Given the description of an element on the screen output the (x, y) to click on. 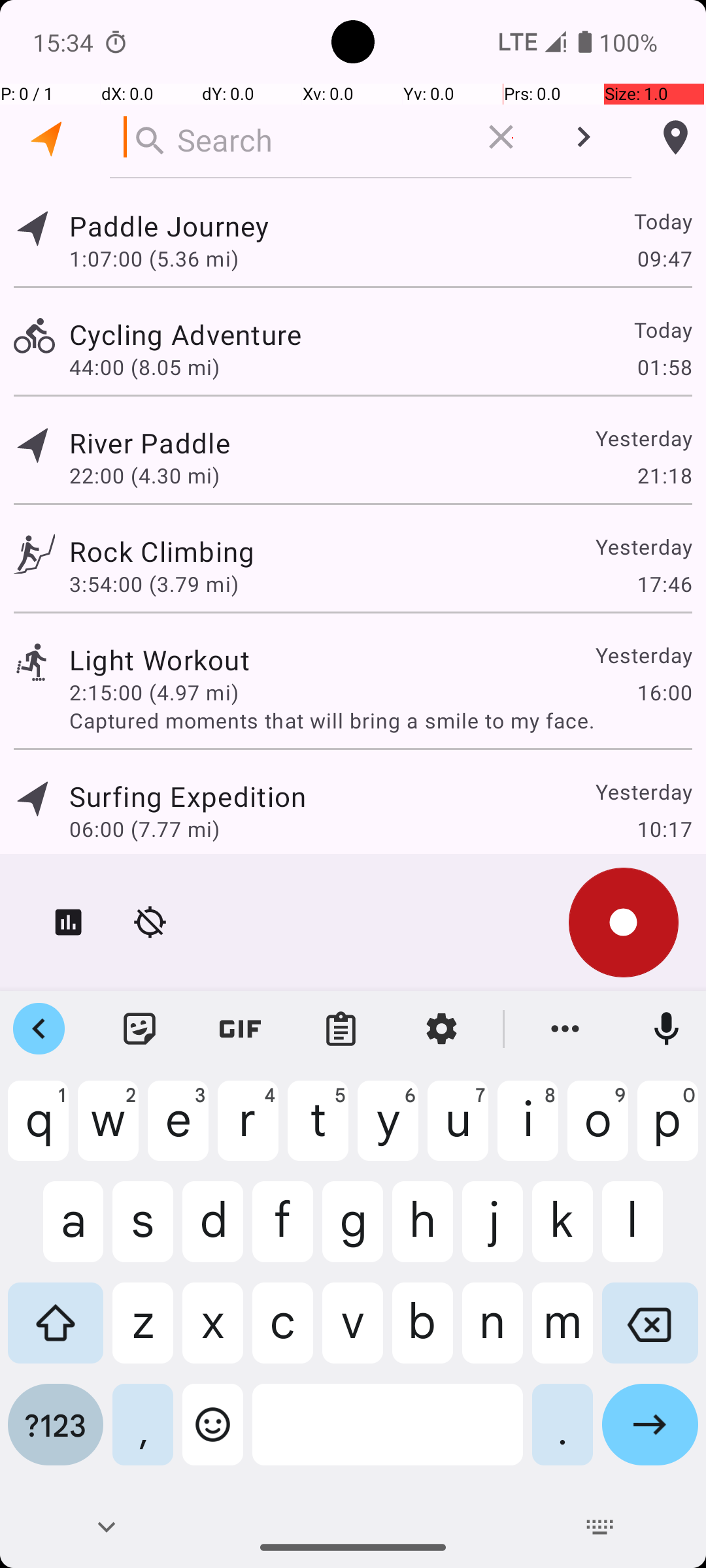
   Search Element type: android.widget.AutoCompleteTextView (287, 136)
Submit query Element type: android.widget.ImageView (583, 136)
Paddle Journey Element type: android.widget.TextView (168, 225)
1:07:00 (5.36 mi) Element type: android.widget.TextView (153, 258)
09:47 Element type: android.widget.TextView (664, 258)
Cycling Adventure Element type: android.widget.TextView (185, 333)
44:00 (8.05 mi) Element type: android.widget.TextView (144, 366)
01:58 Element type: android.widget.TextView (664, 366)
River Paddle Element type: android.widget.TextView (149, 442)
22:00 (4.30 mi) Element type: android.widget.TextView (144, 475)
21:18 Element type: android.widget.TextView (664, 475)
Rock Climbing Element type: android.widget.TextView (161, 550)
3:54:00 (3.79 mi) Element type: android.widget.TextView (153, 583)
17:46 Element type: android.widget.TextView (664, 583)
Light Workout Element type: android.widget.TextView (159, 659)
2:15:00 (4.97 mi) Element type: android.widget.TextView (153, 692)
Captured moments that will bring a smile to my face. Element type: android.widget.TextView (380, 720)
Surfing Expedition Element type: android.widget.TextView (187, 795)
06:00 (7.77 mi) Element type: android.widget.TextView (144, 828)
10:17 Element type: android.widget.TextView (664, 828)
Go Element type: android.widget.FrameLayout (649, 1434)
